Given the description of an element on the screen output the (x, y) to click on. 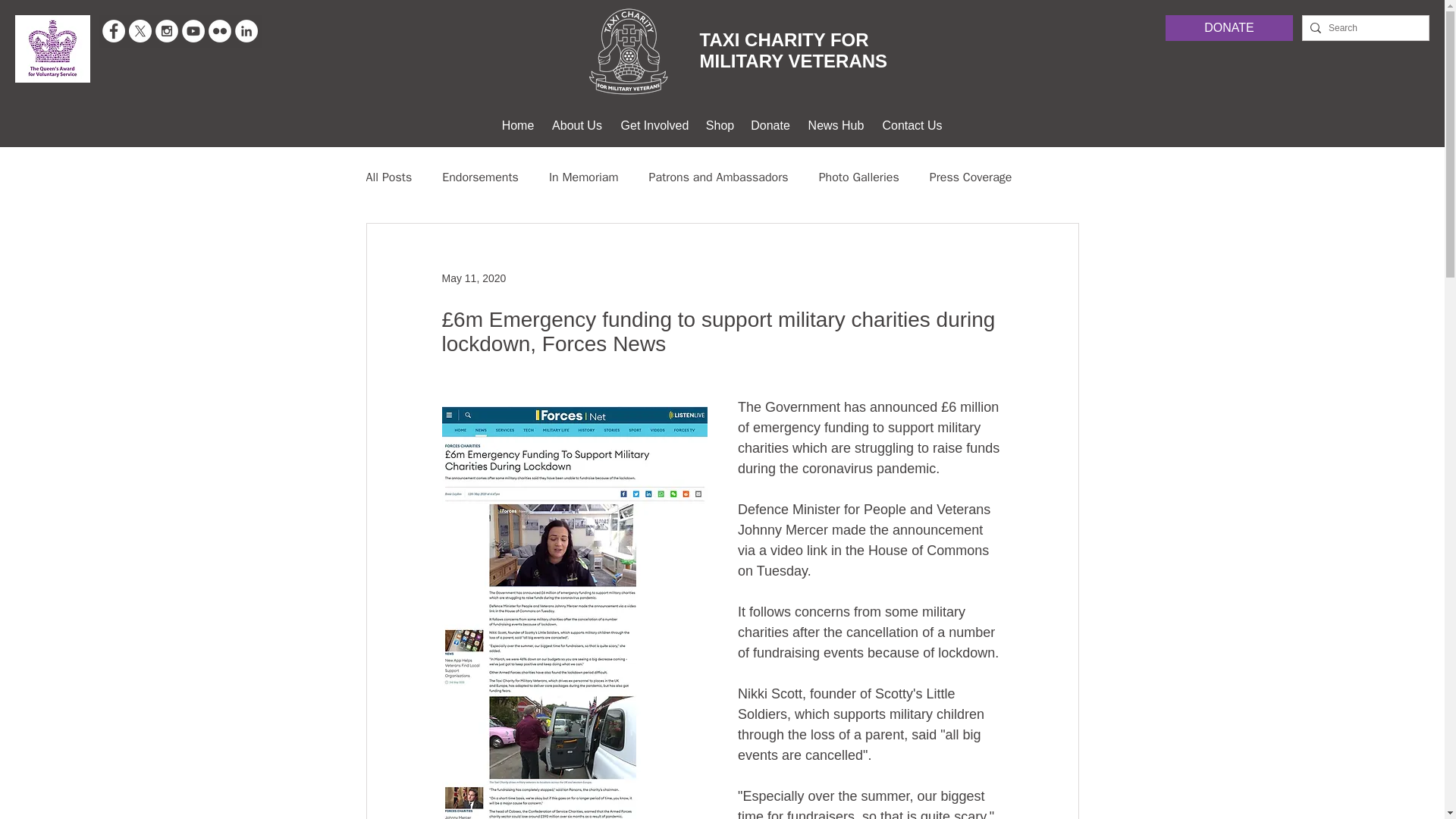
Endorsements (480, 177)
Press Coverage (970, 177)
DONATE (1229, 27)
Photo Galleries (858, 177)
Contact Us (912, 125)
Home (517, 125)
May 11, 2020 (473, 277)
Patrons and Ambassadors (719, 177)
All Posts (388, 177)
In Memoriam (583, 177)
